Given the description of an element on the screen output the (x, y) to click on. 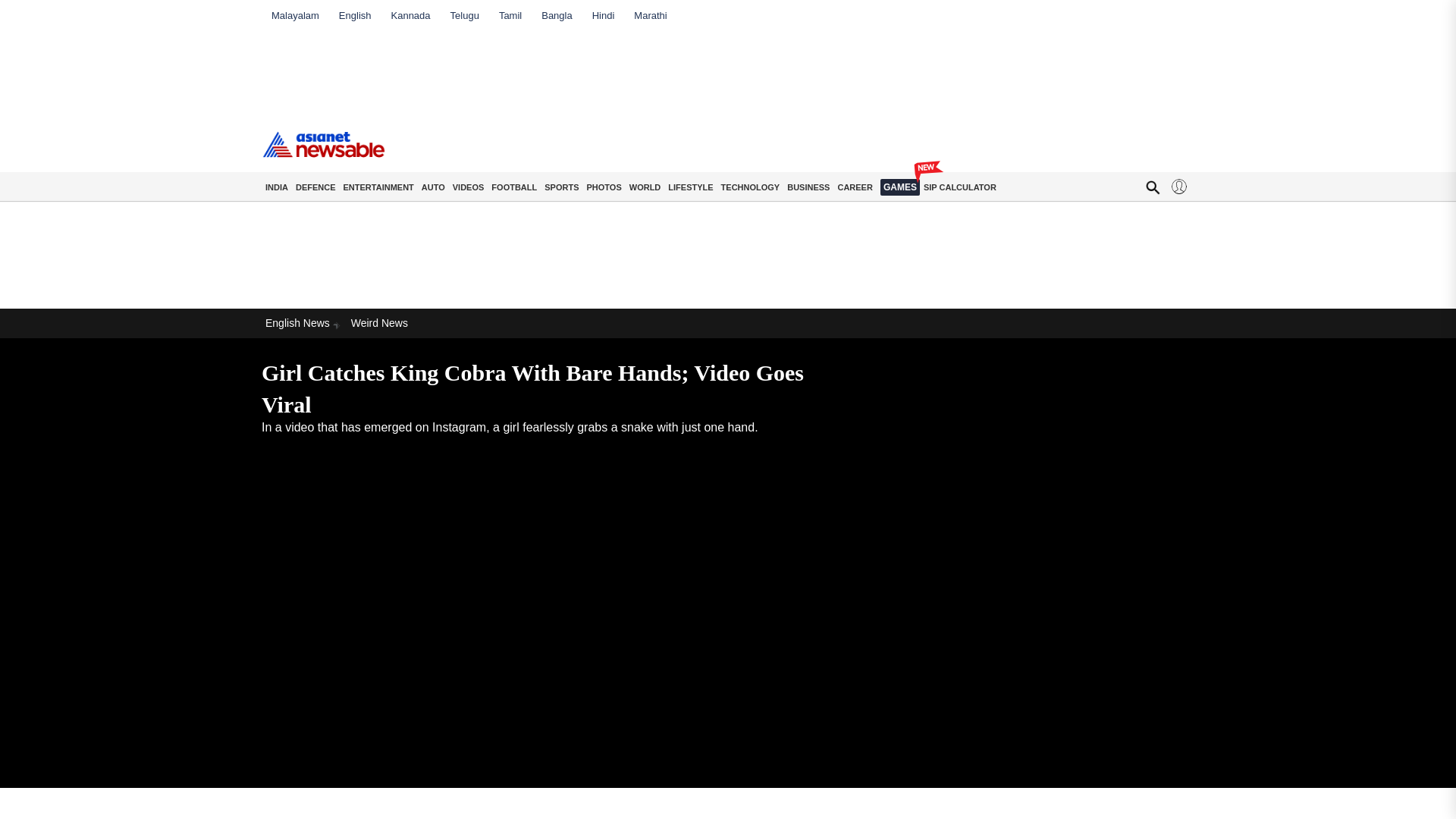
Bangla (555, 14)
PHOTOS (603, 186)
Tamil (510, 14)
AUTO (432, 186)
Hindi (603, 14)
Hindi (603, 14)
Asianet Newsable (323, 144)
FOOTBALL (513, 186)
LIFESTYLE (689, 186)
Asianet Newsable (323, 156)
